Given the description of an element on the screen output the (x, y) to click on. 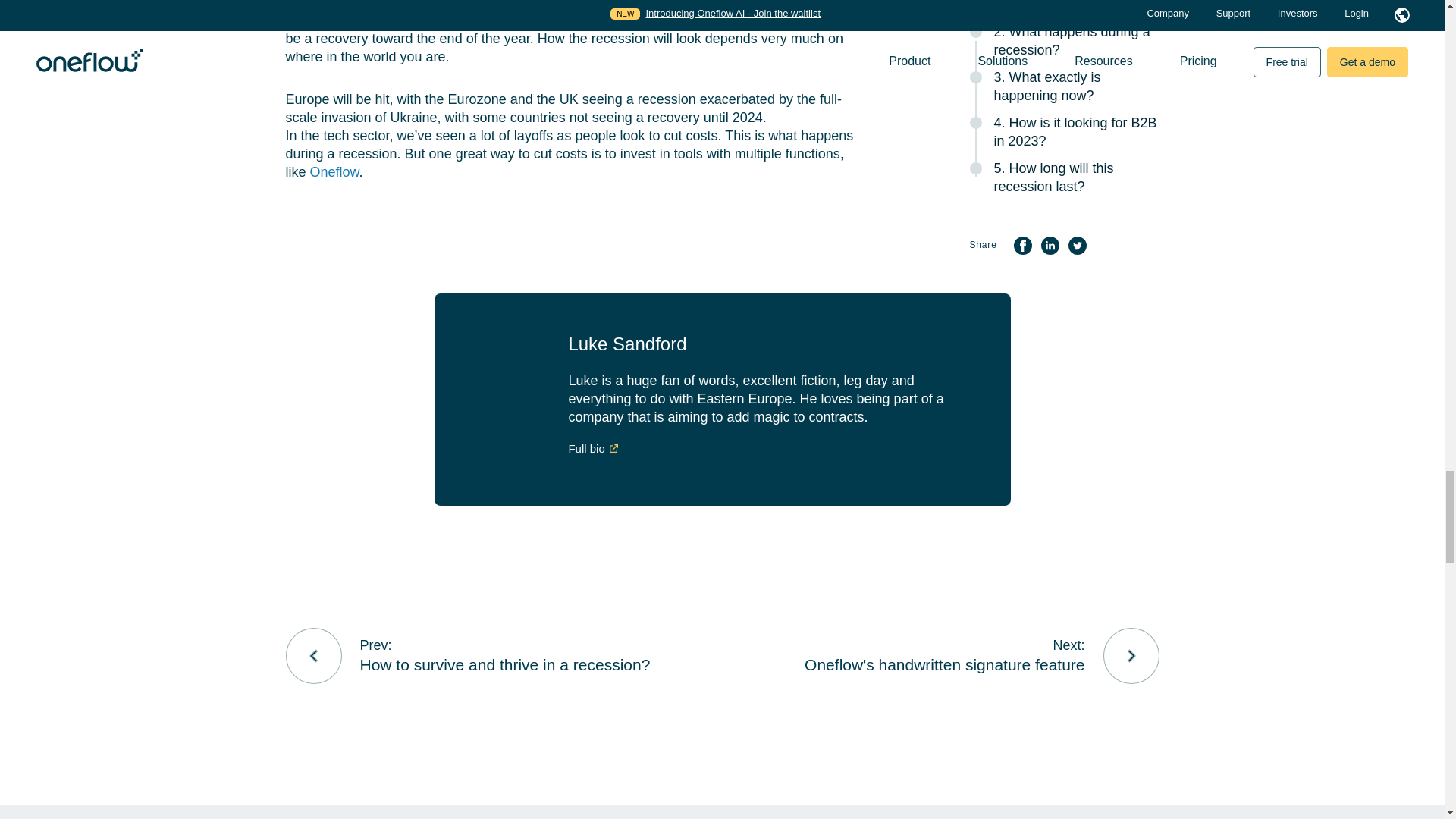
external-link-icon-2048x2048-wo7lfgrz (614, 446)
